Given the description of an element on the screen output the (x, y) to click on. 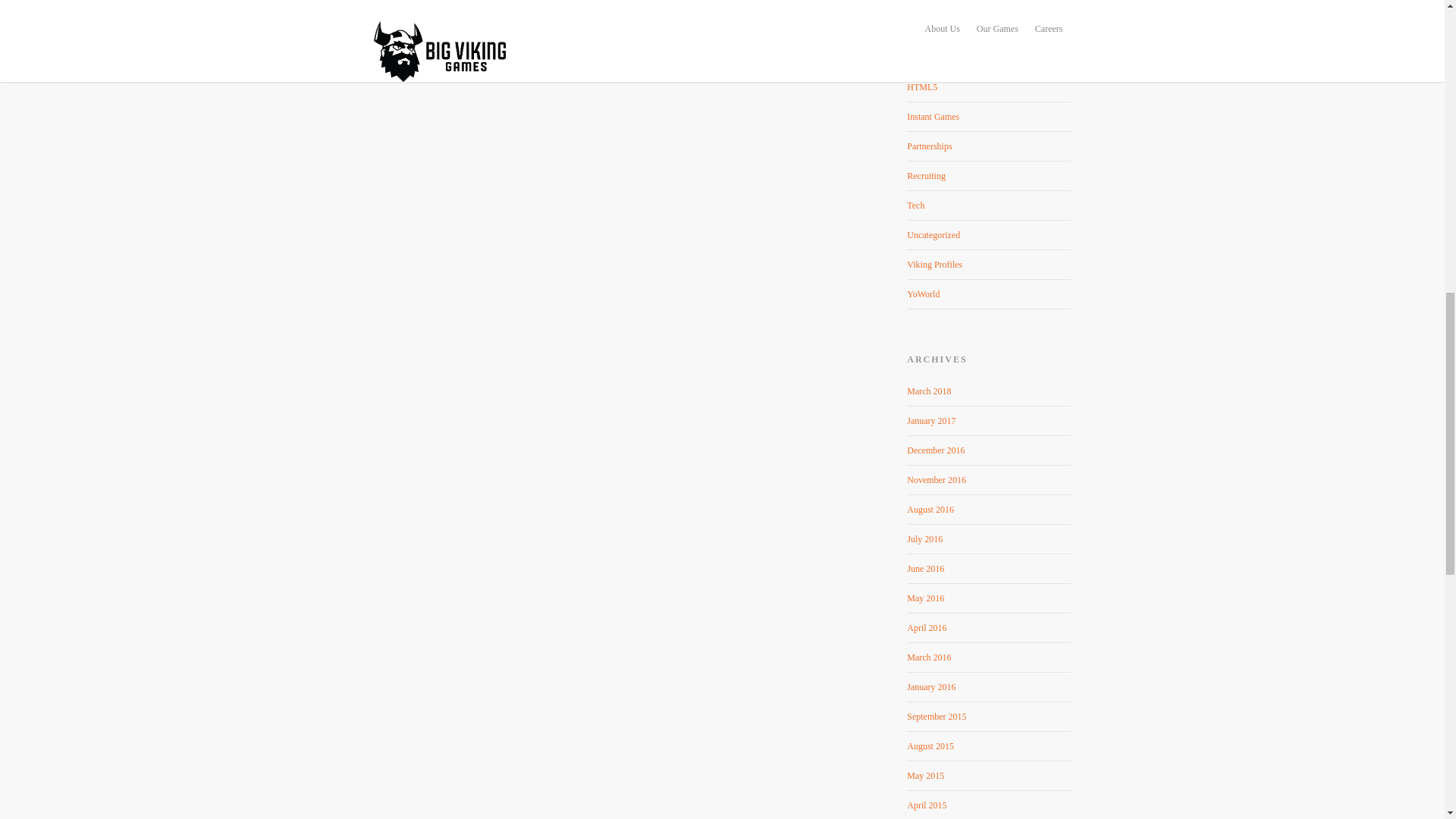
HTML5 (988, 87)
Tech (988, 205)
Partnerships (988, 146)
Recruiting (988, 175)
Instant Games (988, 116)
Game Design (988, 28)
Games (988, 57)
GalatronVS (988, 6)
